Given the description of an element on the screen output the (x, y) to click on. 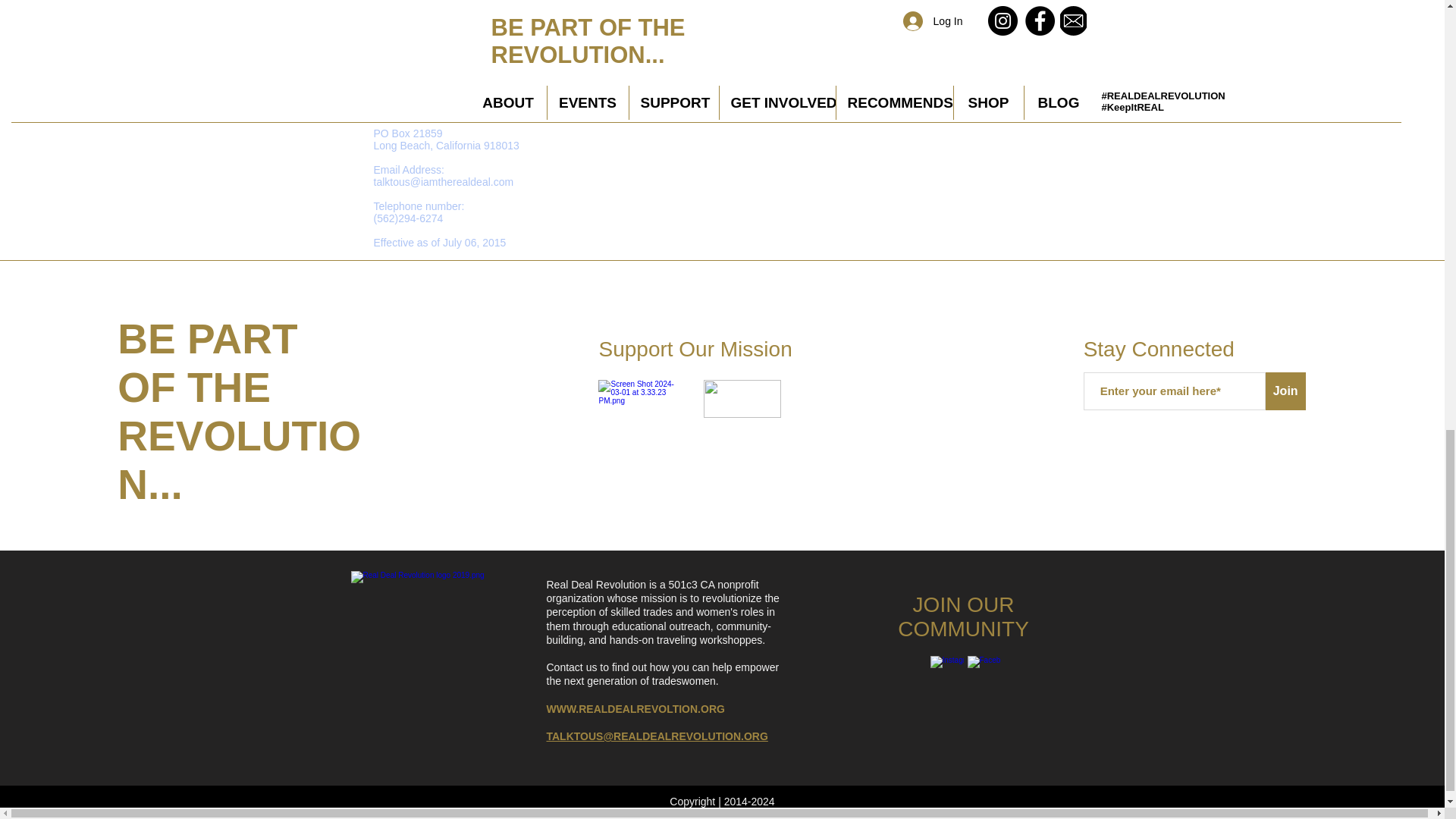
WWW.REALDEALREVOLTION.ORG (634, 708)
Support Our Mission (695, 349)
Join (1285, 391)
Screen Shot 2024-03-01 at 3.33.36 PM.png (741, 398)
